Given the description of an element on the screen output the (x, y) to click on. 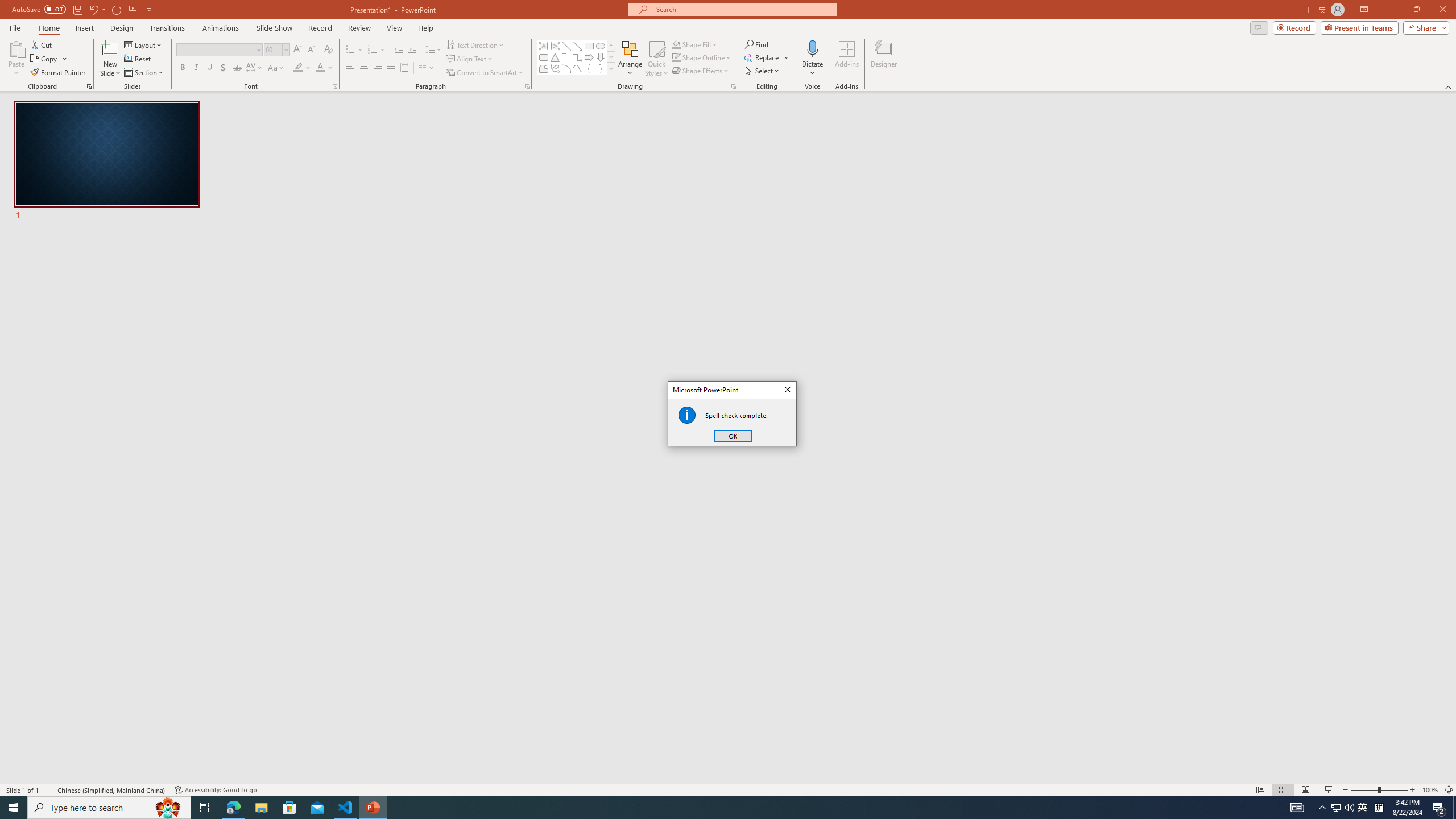
Accessibility Checker Accessibility: Good to go (216, 790)
